Given the description of an element on the screen output the (x, y) to click on. 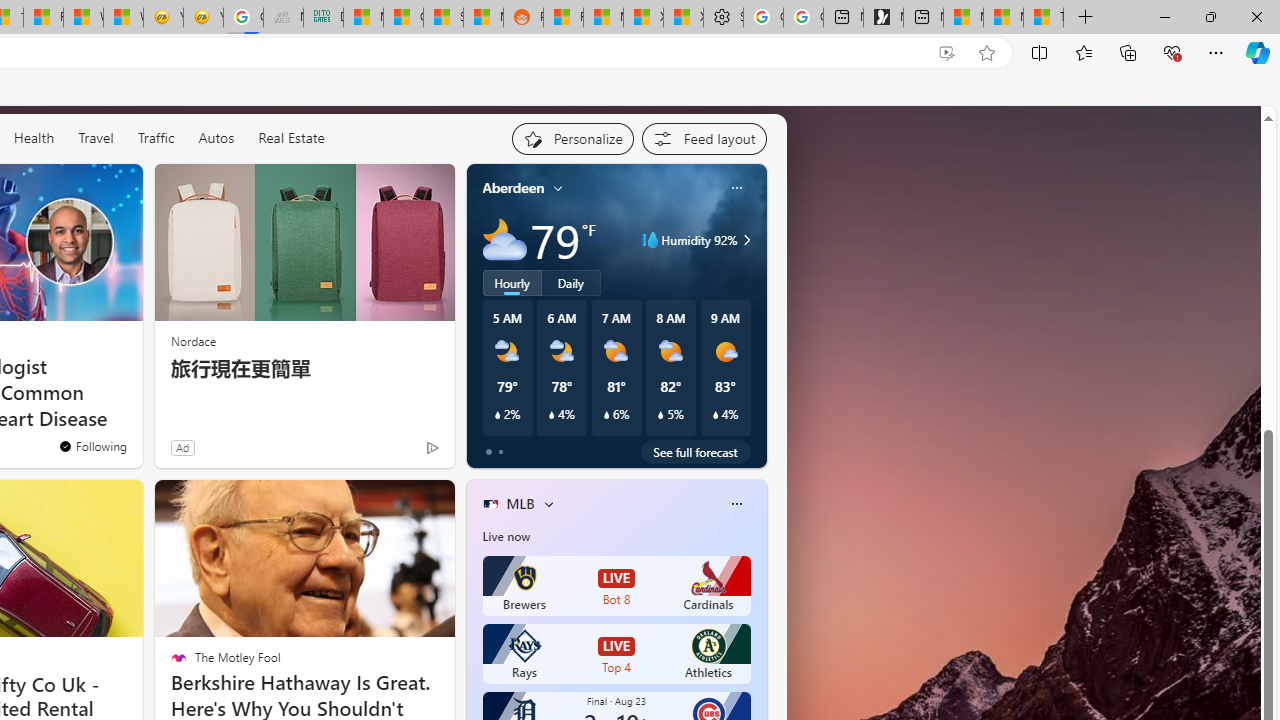
Hourly (511, 282)
Daily (571, 282)
MSN (483, 17)
DITOGAMES AG Imprint (323, 17)
Real Estate (290, 138)
Personalize your feed" (571, 138)
MLB (520, 503)
Class: icon-img (736, 503)
Class: weather-arrow-glyph (746, 240)
Stocks - MSN (443, 17)
